Given the description of an element on the screen output the (x, y) to click on. 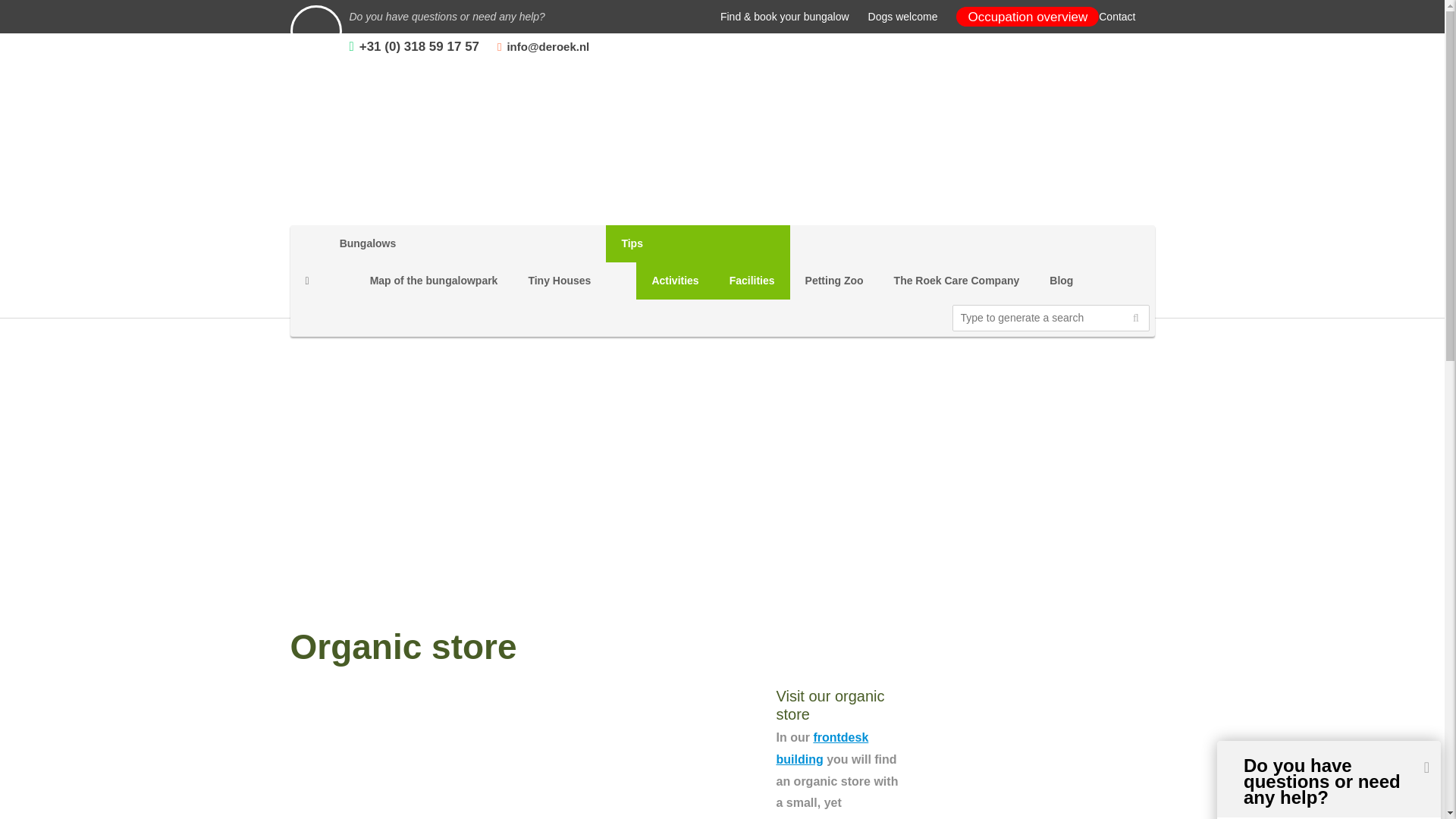
Blog (1060, 280)
Activities (674, 280)
Tiny Houses (558, 280)
The Roek Care Company (957, 280)
Contact (1117, 16)
Occupation overview (1027, 17)
Petting Zoo (834, 280)
Tips (697, 243)
Bungalows (418, 243)
Map of the bungalowpark (434, 280)
